Given the description of an element on the screen output the (x, y) to click on. 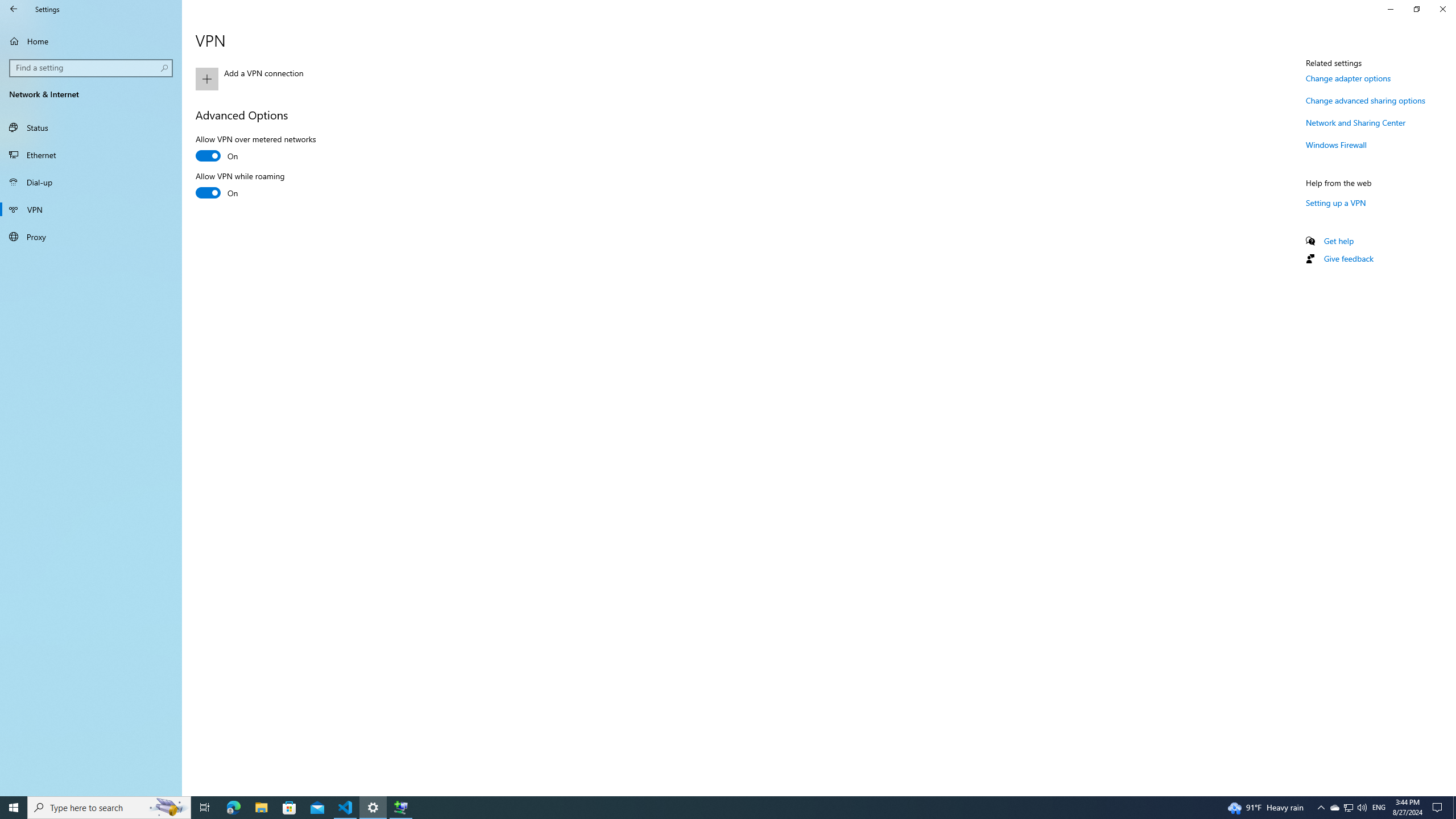
Proxy (91, 236)
Setting up a VPN (1335, 202)
Network and Sharing Center (1356, 122)
Change advanced sharing options (1365, 100)
Get help (1338, 240)
